Given the description of an element on the screen output the (x, y) to click on. 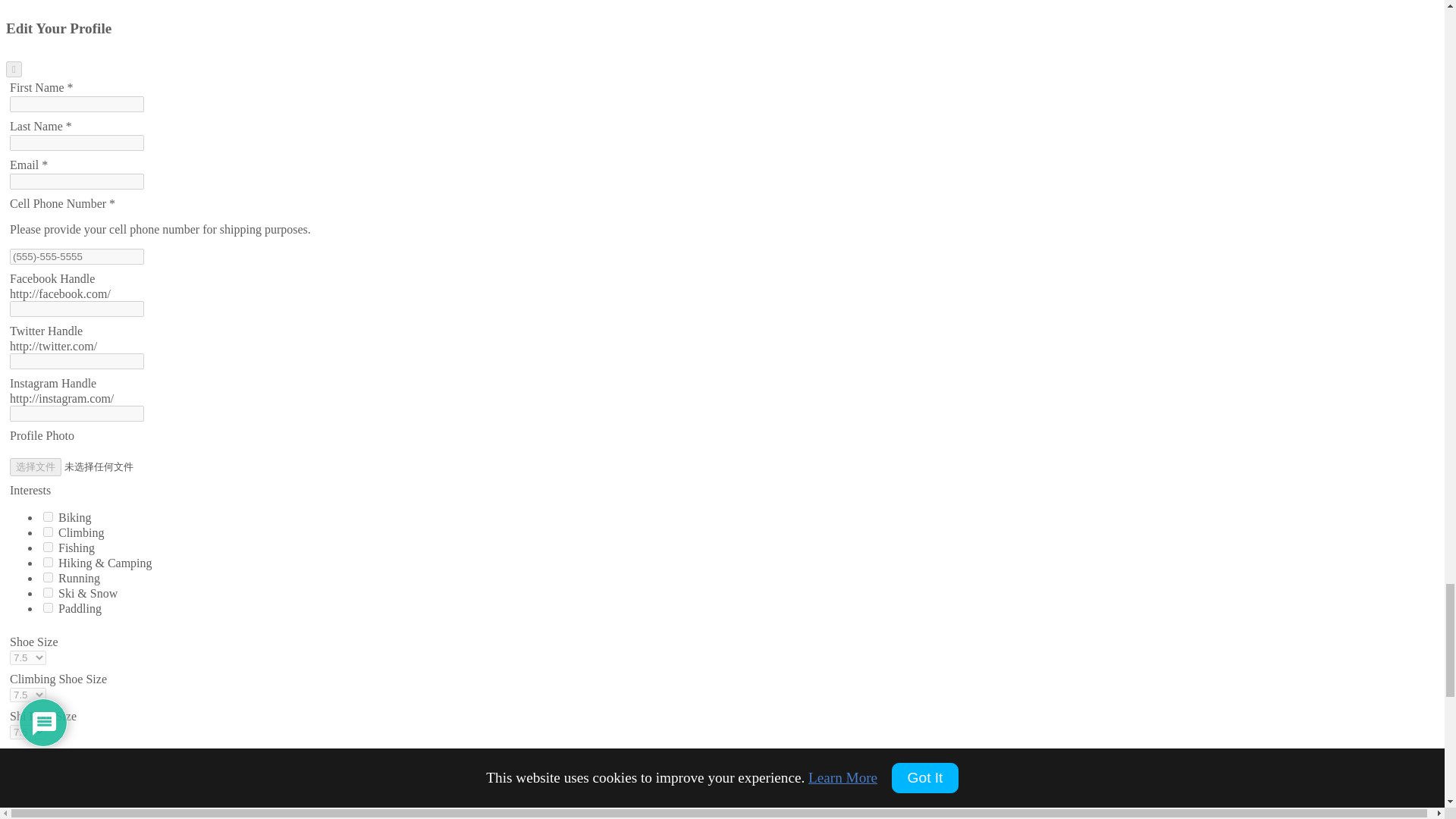
2457 (47, 547)
2439 (47, 562)
2433 (47, 592)
2448 (47, 516)
2438 (47, 532)
2455 (47, 607)
2445 (47, 577)
